Given the description of an element on the screen output the (x, y) to click on. 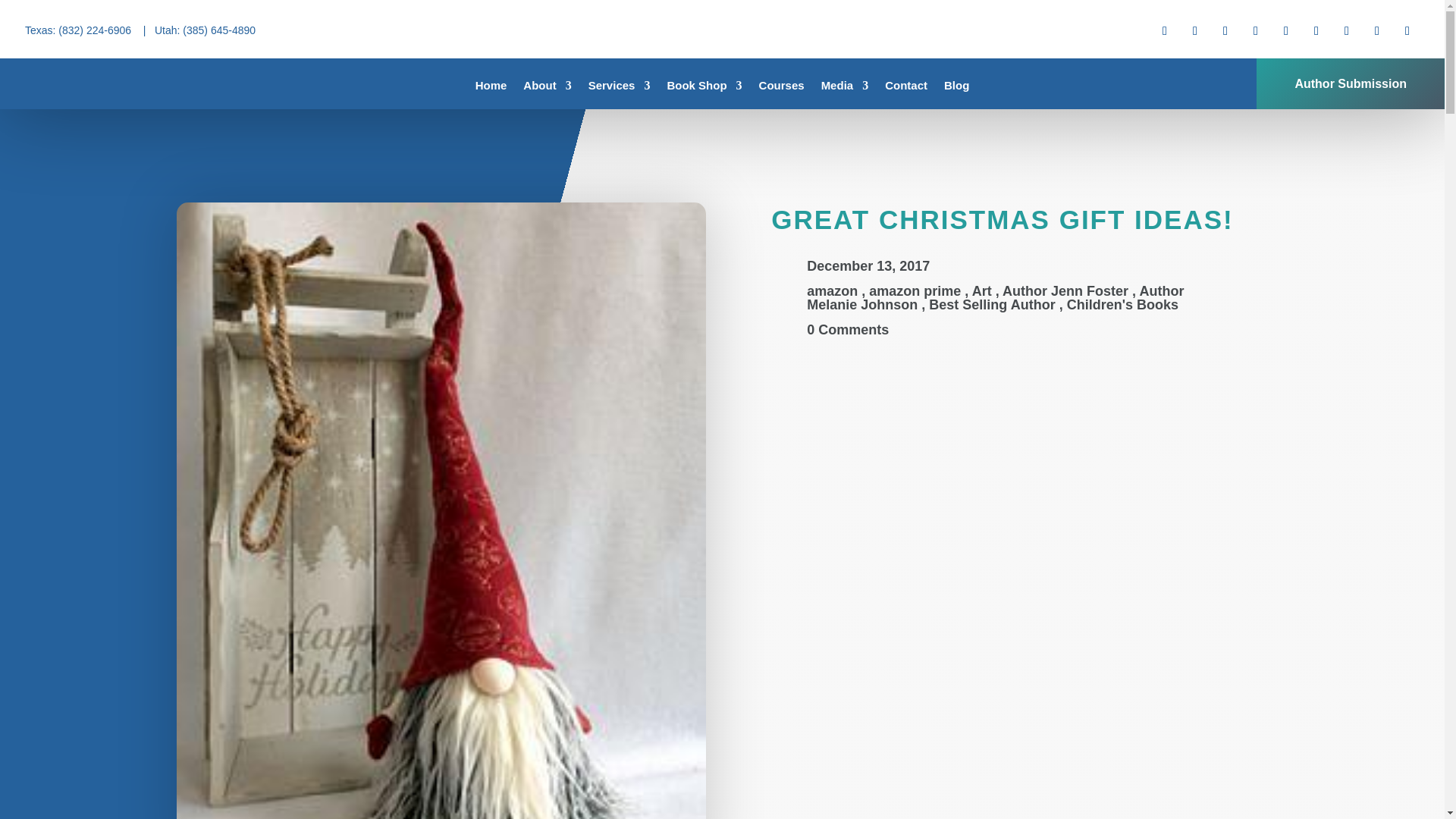
Home (491, 88)
Follow on Instagram (1224, 30)
Follow on iTunes (1377, 30)
Courses (781, 88)
Follow on TikTok (1346, 30)
Media (845, 88)
Follow on X (1194, 30)
Follow on Facebook (1164, 30)
Follow on Spotify (1406, 30)
Follow on LinkedIn (1255, 30)
